Given the description of an element on the screen output the (x, y) to click on. 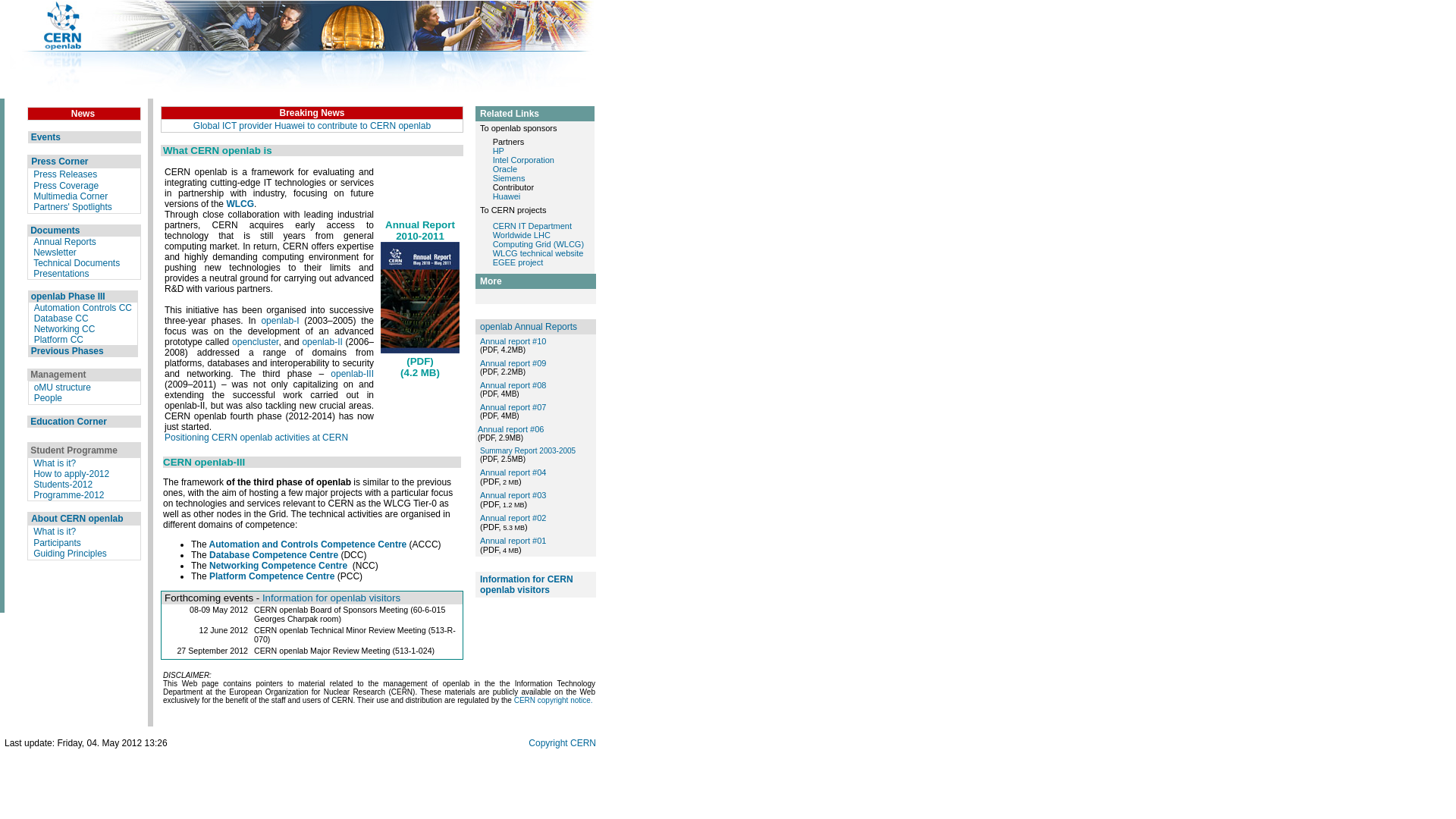
Automation and Controls Competence Centre Element type: text (308, 544)
Networking CC Element type: text (64, 328)
Press Coverage Element type: text (65, 185)
Siemens Element type: text (508, 177)
About CERN openlab Element type: text (76, 518)
Presentations Element type: text (60, 273)
Documents Element type: text (54, 229)
Database Competence Centre Element type: text (273, 554)
Partners' Spotlights Element type: text (72, 206)
uiding Principles Element type: text (73, 553)
Students-2012 Element type: text (62, 484)
articipants Element type: text (60, 542)
W Element type: text (37, 531)
Information for openlab visitors Element type: text (331, 597)
hat is it? Element type: text (58, 531)
Summary Report 2003-2005 Element type: text (527, 450)
Annual report #02 Element type: text (513, 517)
Annual report #09 Element type: text (513, 362)
Global ICT provider Huawei to contribute to CERN openlab Element type: text (311, 125)
oMU structure Element type: text (62, 387)
Annual report #04 Element type: text (513, 471)
Worldwide LHC Computing Grid (WLCG) Element type: text (537, 239)
Automation Controls CC Element type: text (82, 307)
openlab Phase III Element type: text (68, 296)
Oracle Element type: text (504, 168)
Education Corner Element type: text (68, 421)
openlab-I Element type: text (279, 320)
CERN copyright notice. Element type: text (553, 700)
openlab-II Element type: text (321, 341)
Breaking News Element type: text (311, 112)
EGEE project Element type: text (517, 261)
Annual Reports Element type: text (64, 241)
People Element type: text (48, 397)
HP Element type: text (498, 150)
Information for CERN openlab visitors Element type: text (526, 584)
Annual report #08 Element type: text (513, 384)
Positioning CERN openlab activities at CERN Element type: text (256, 437)
Annual report #10 Element type: text (513, 340)
CERN openlab Element type: text (282, 629)
openlab-III Element type: text (351, 373)
Newsletter Element type: text (54, 252)
Intel Corporation Element type: text (523, 159)
Press Corner Element type: text (59, 161)
Annual report #01 Element type: text (513, 540)
P Element type: text (36, 542)
Press Releases Element type: text (65, 173)
Huawei Element type: text (506, 195)
Annual report #07 Element type: text (513, 406)
CERN openlab Element type: text (282, 650)
Annual report #03 Element type: text (513, 494)
What is it? Element type: text (54, 463)
News Element type: text (82, 112)
Database CC Element type: text (61, 318)
Copyright CERN Element type: text (562, 742)
openlab Annual Reports Element type: text (528, 326)
Programme-2012 Element type: text (68, 494)
CERN openlab Element type: text (282, 609)
Networking Competence Centre Element type: text (278, 565)
Events Element type: text (45, 136)
WLCG Element type: text (239, 203)
Multimedia Corner Element type: text (70, 196)
How to apply-2012 Element type: text (71, 473)
opencluster Element type: text (255, 341)
Platform CC Element type: text (58, 339)
Annual report #06 Element type: text (510, 428)
Previous Phases Element type: text (67, 350)
CERN IT Department Element type: text (531, 225)
Platform Competence Centre Element type: text (271, 576)
G Element type: text (36, 553)
Technical Documents Element type: text (76, 262)
WLCG technical website Element type: text (537, 252)
